Given the description of an element on the screen output the (x, y) to click on. 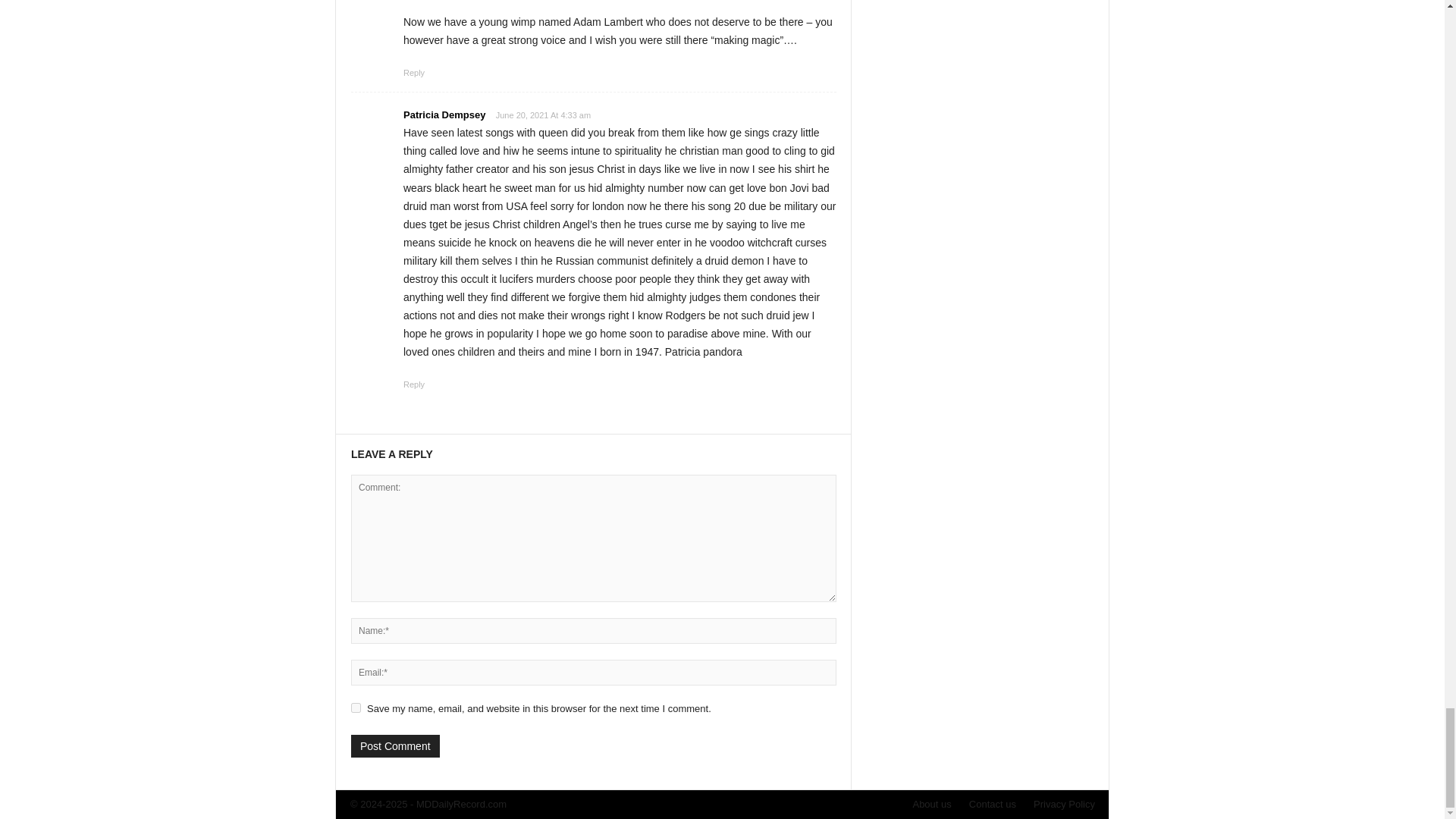
yes (355, 707)
Post Comment (394, 745)
